Given the description of an element on the screen output the (x, y) to click on. 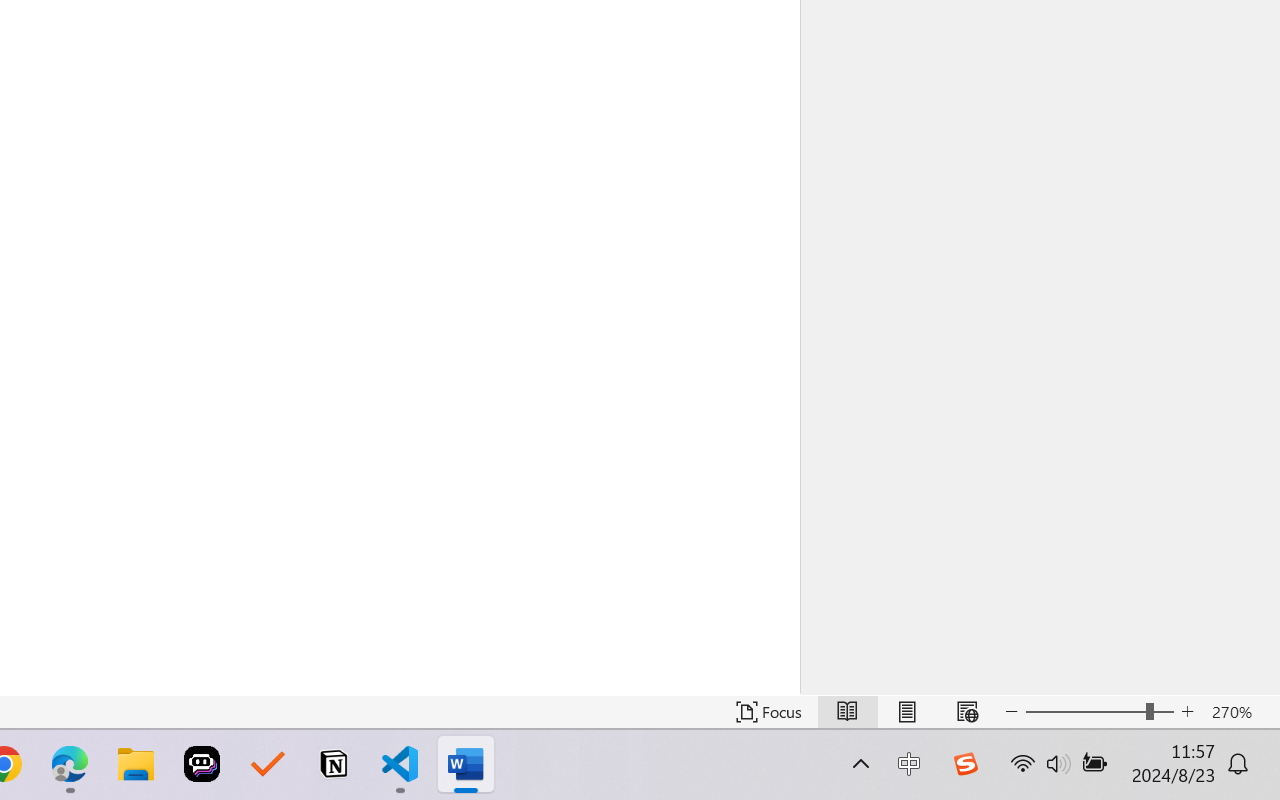
Decrease Text Size (1011, 712)
Increase Text Size (1187, 712)
Text Size (1100, 712)
